Given the description of an element on the screen output the (x, y) to click on. 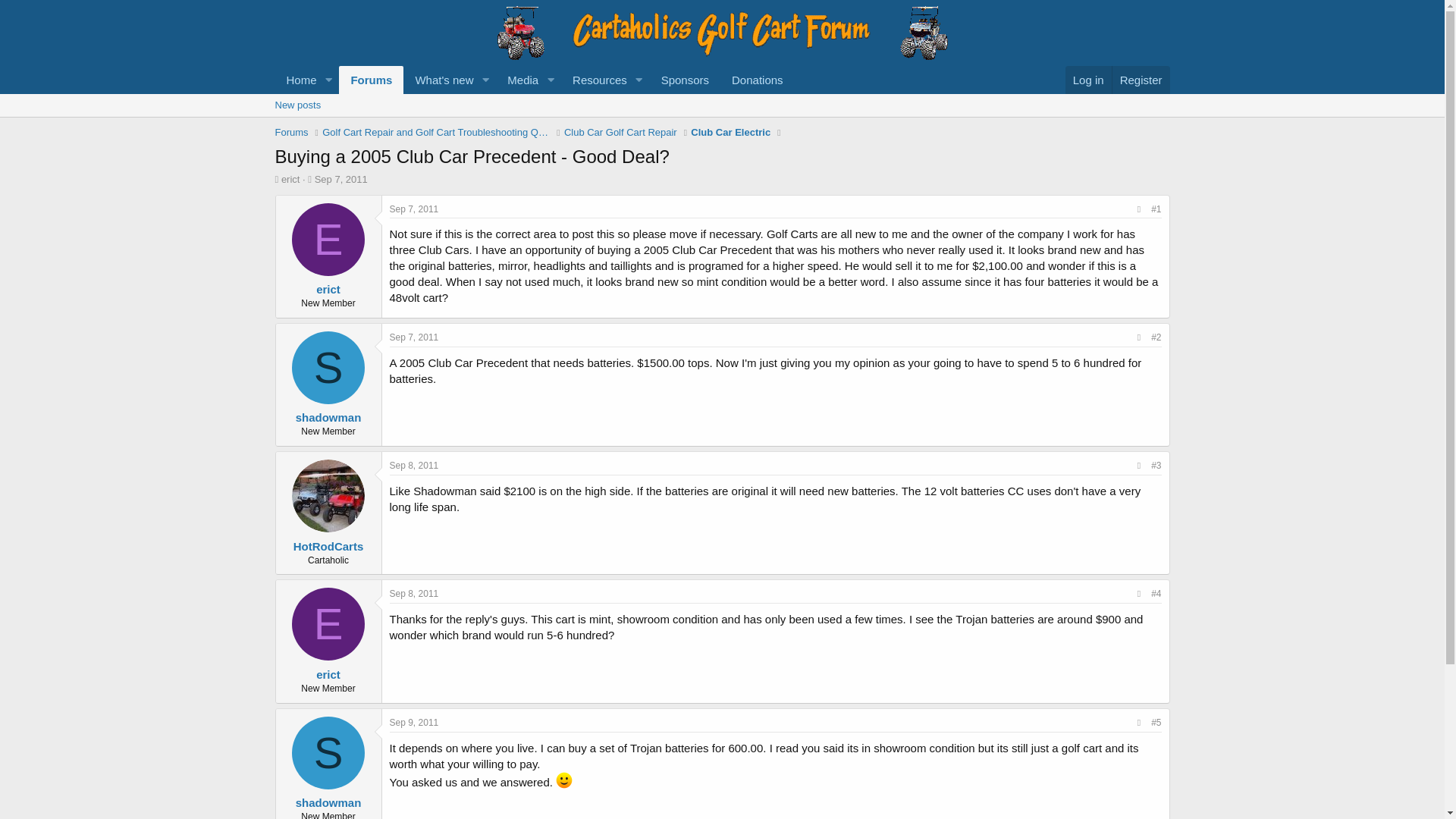
Register (1141, 80)
Sep 8, 2011 at 5:03 PM (414, 593)
Forums (291, 132)
Donations (757, 80)
Sponsors (684, 80)
Forums (371, 80)
Sep 7, 2011 at 9:31 PM (414, 337)
Thread starter (534, 96)
Resources (414, 208)
Start date (594, 80)
What's new (309, 179)
Media (438, 80)
